Given the description of an element on the screen output the (x, y) to click on. 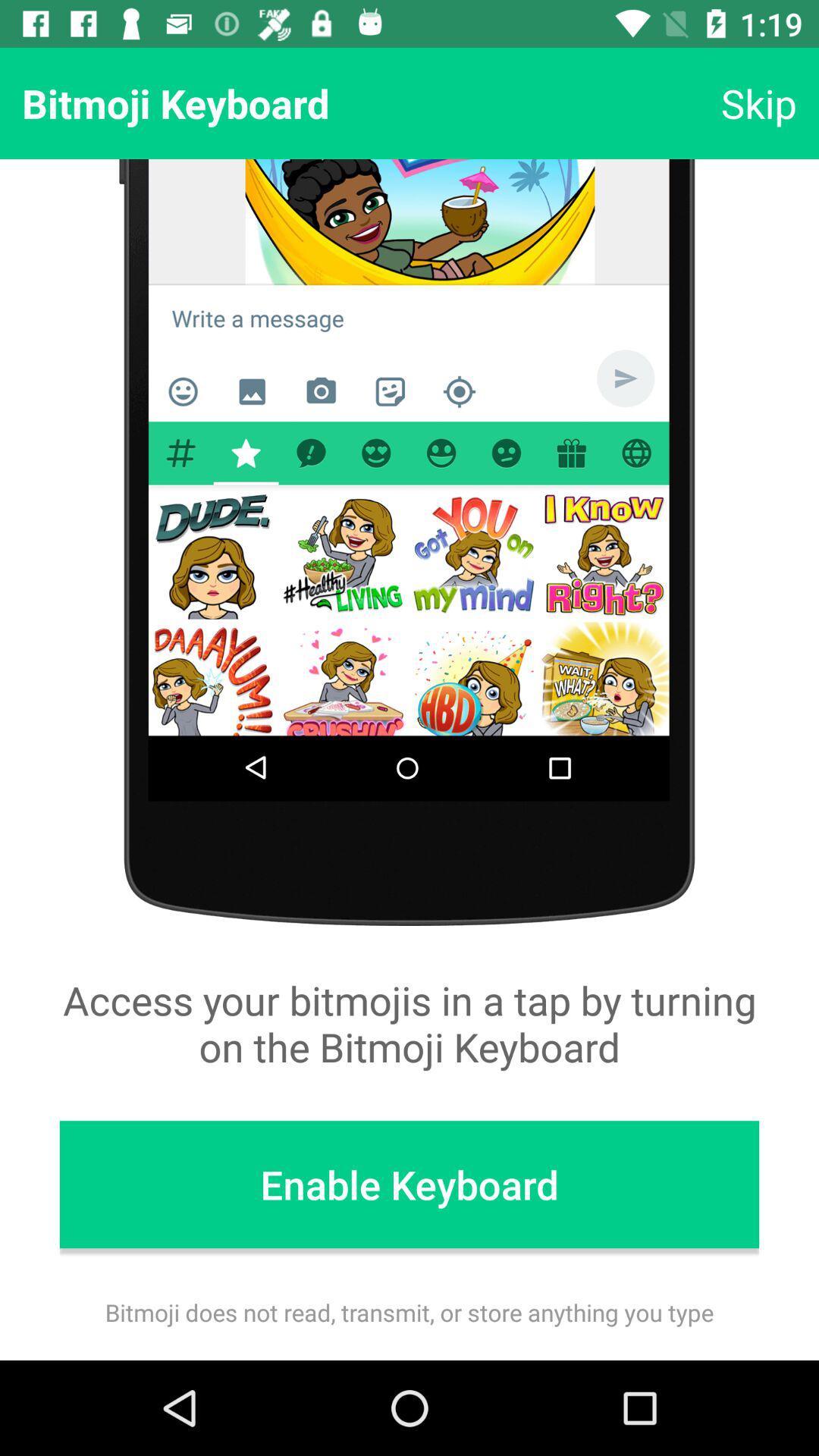
select skip item (758, 102)
